Given the description of an element on the screen output the (x, y) to click on. 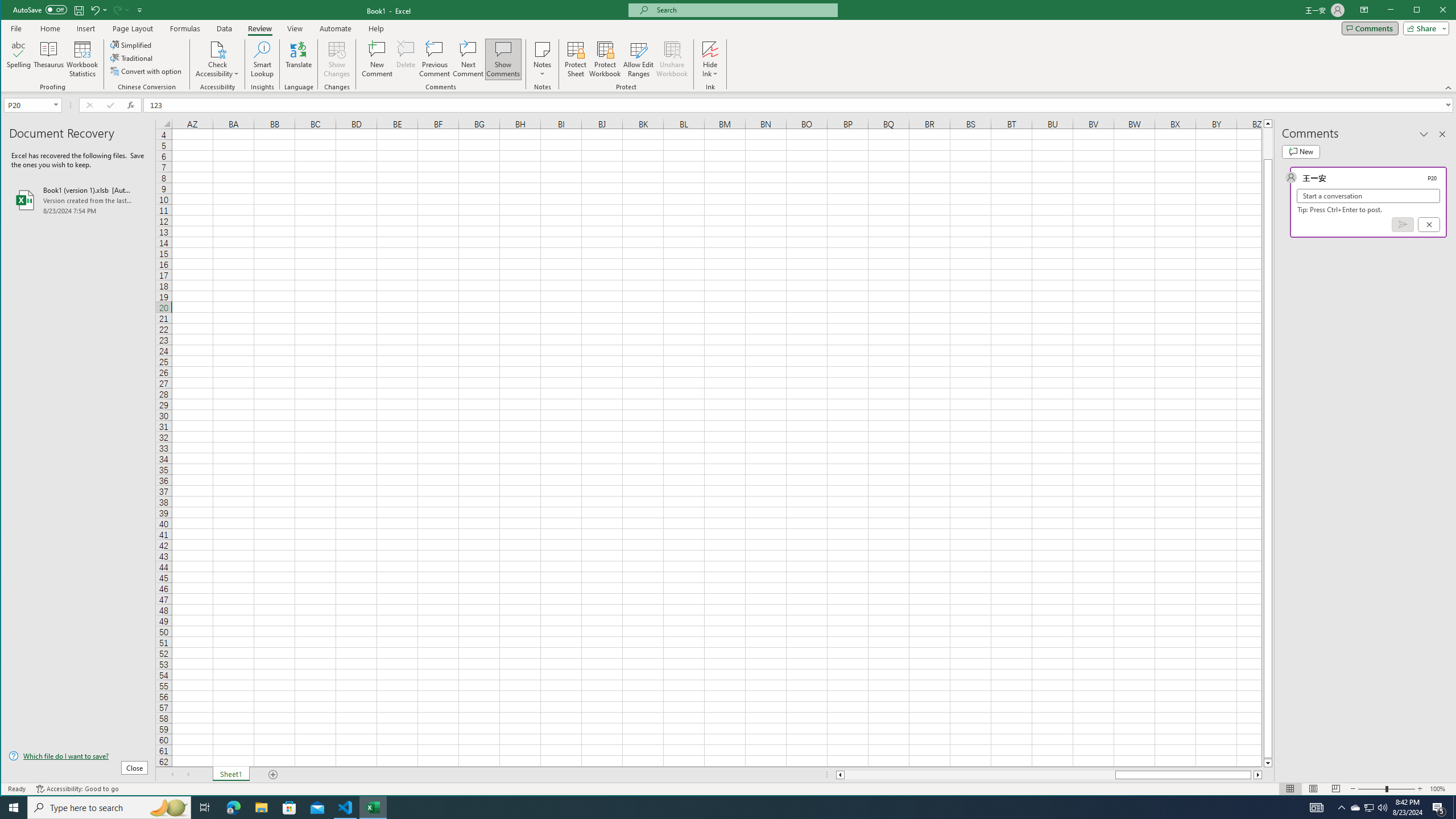
Show Comments (502, 59)
Q2790: 100% (1382, 807)
